Given the description of an element on the screen output the (x, y) to click on. 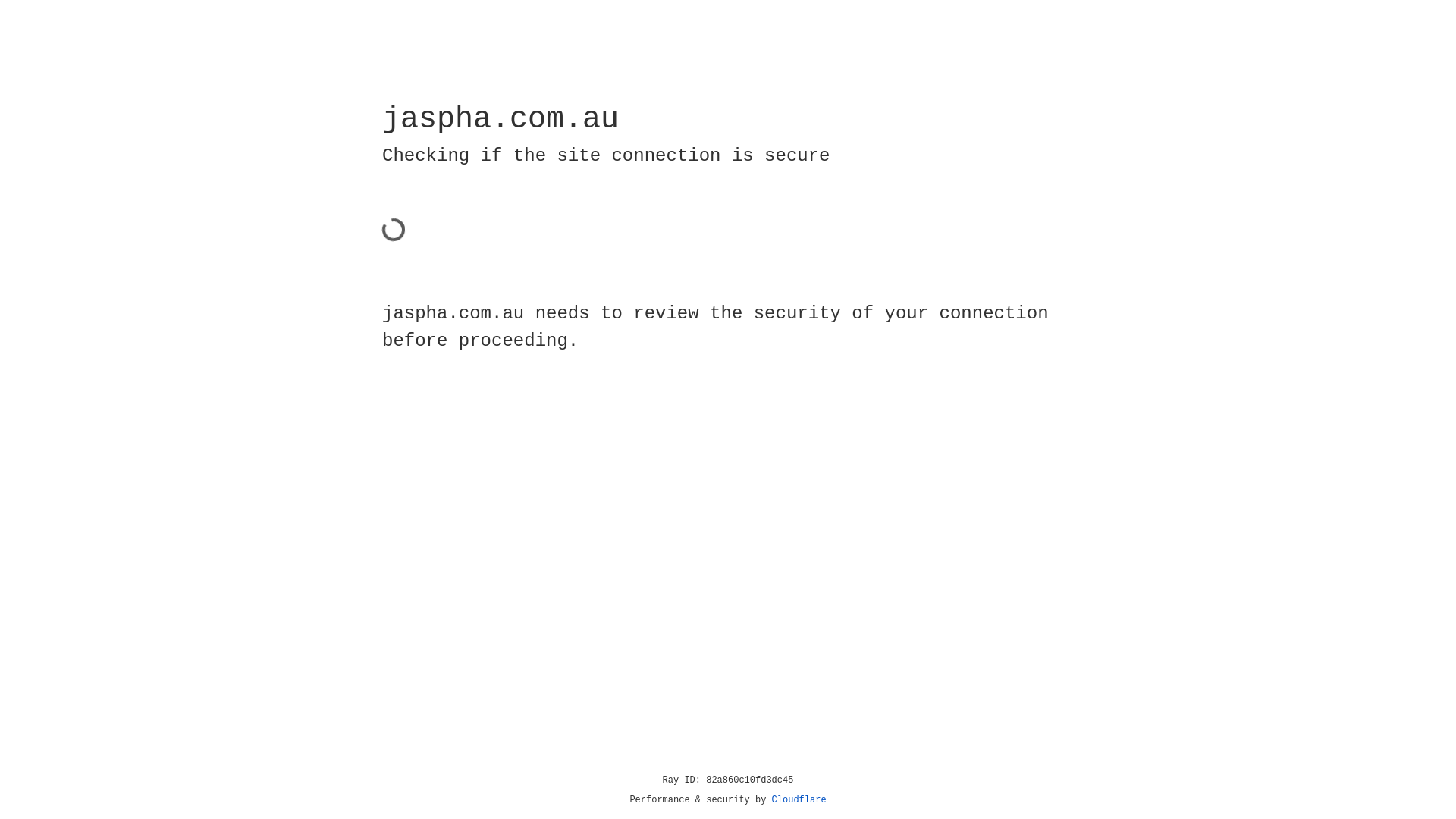
Cloudflare Element type: text (798, 799)
